Given the description of an element on the screen output the (x, y) to click on. 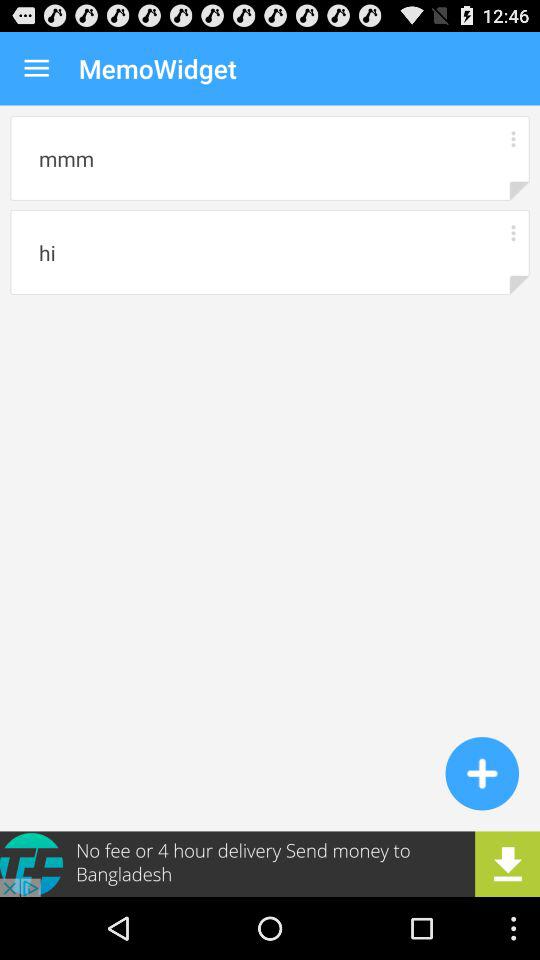
add page (482, 773)
